Given the description of an element on the screen output the (x, y) to click on. 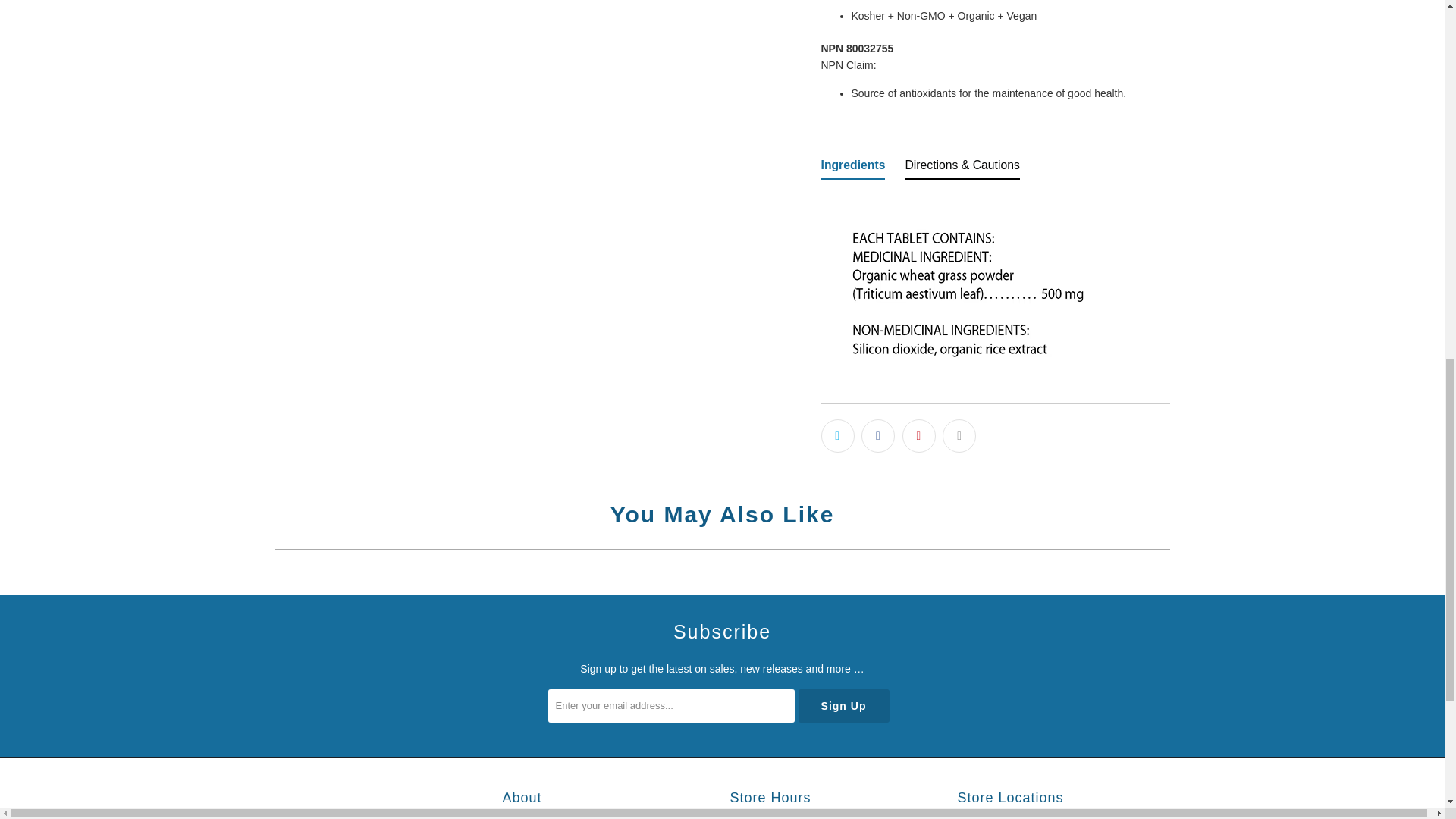
Email this to a friend (958, 435)
Share this on Twitter (837, 435)
Sign Up (842, 705)
Share this on Pinterest (919, 435)
Share this on Facebook (878, 435)
